Given the description of an element on the screen output the (x, y) to click on. 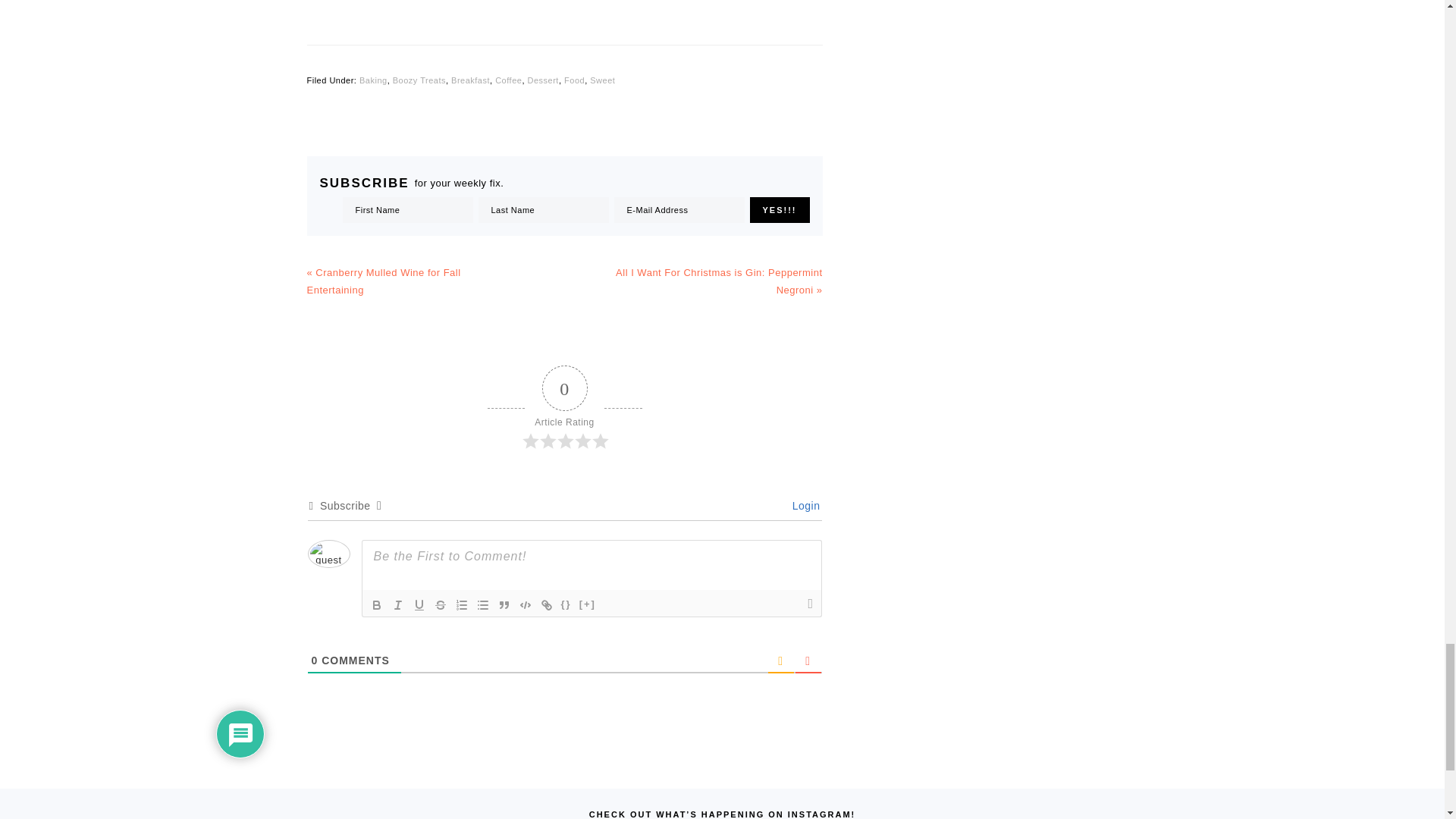
Link (545, 605)
Ordered List (460, 605)
Source Code (565, 605)
Bold (376, 605)
Coffee (508, 80)
Baking (373, 80)
Italic (397, 605)
Breakfast (470, 80)
Dessert (543, 80)
Spoiler (587, 605)
Blockquote (503, 605)
Code Block (524, 605)
Strike (439, 605)
Boozy Treats (419, 80)
Underline (418, 605)
